Given the description of an element on the screen output the (x, y) to click on. 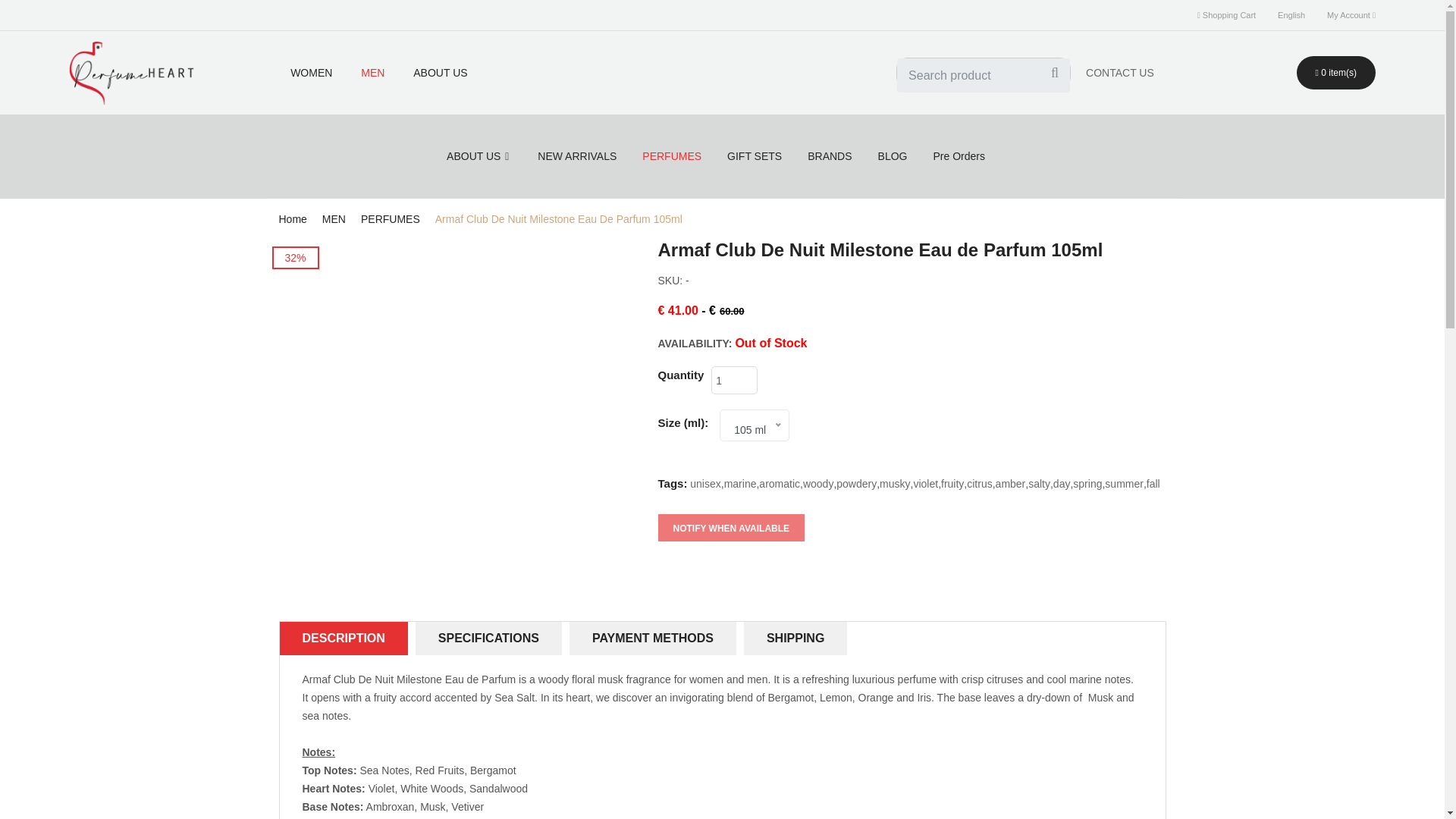
ABOUT US (440, 72)
ABOUT US (440, 72)
My Account (1350, 15)
Shopping Cart (1225, 15)
English (1291, 15)
1 (734, 379)
